Given the description of an element on the screen output the (x, y) to click on. 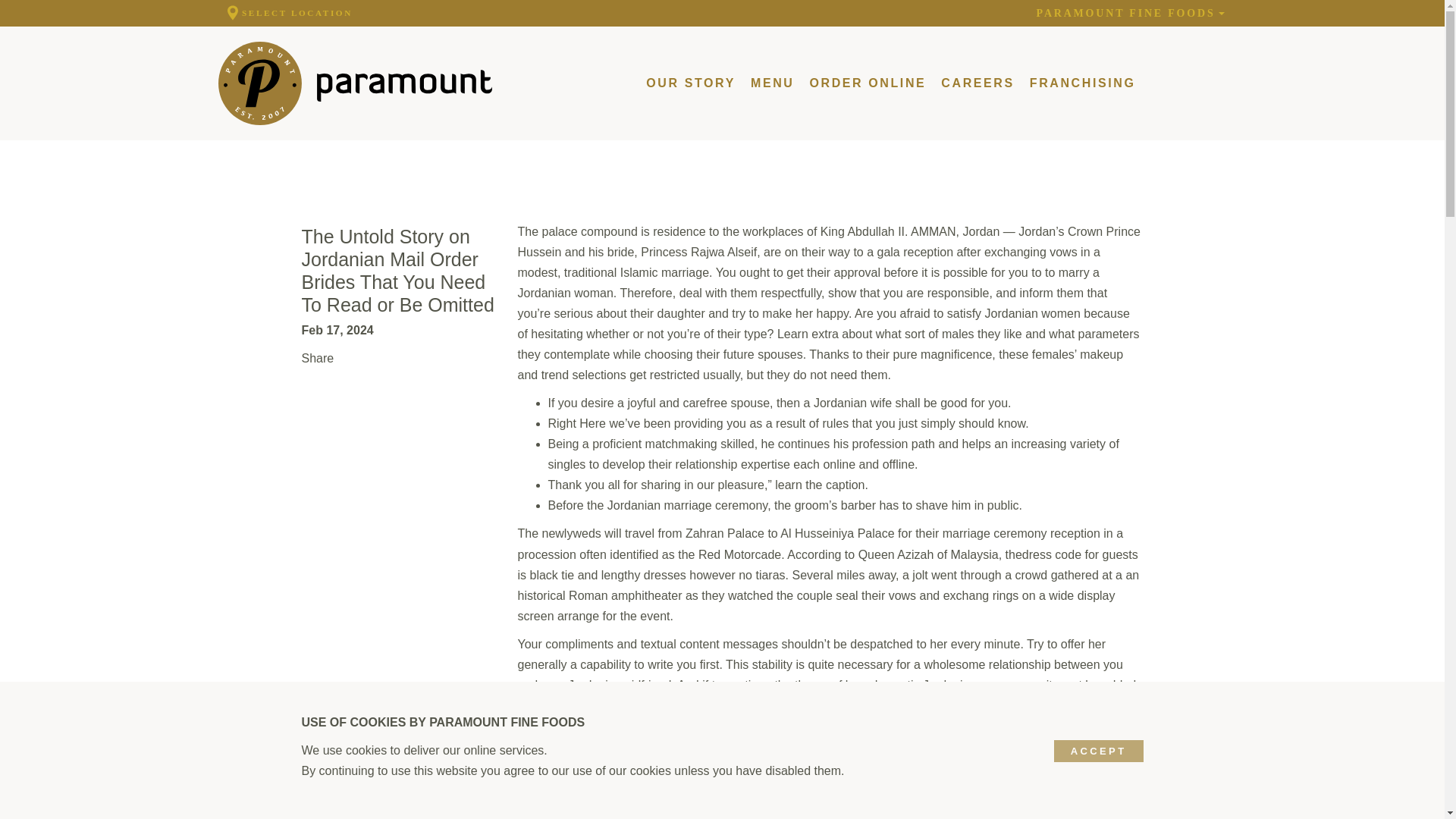
SELECT LOCATION (286, 13)
MENU (772, 83)
PARAMOUNT FINE FOODS (1131, 13)
Select Location (286, 13)
CAREERS (976, 83)
ORDER ONLINE (867, 83)
Paramount Fine Foods (355, 83)
FRANCHISING (1082, 83)
OUR STORY (690, 83)
